Given the description of an element on the screen output the (x, y) to click on. 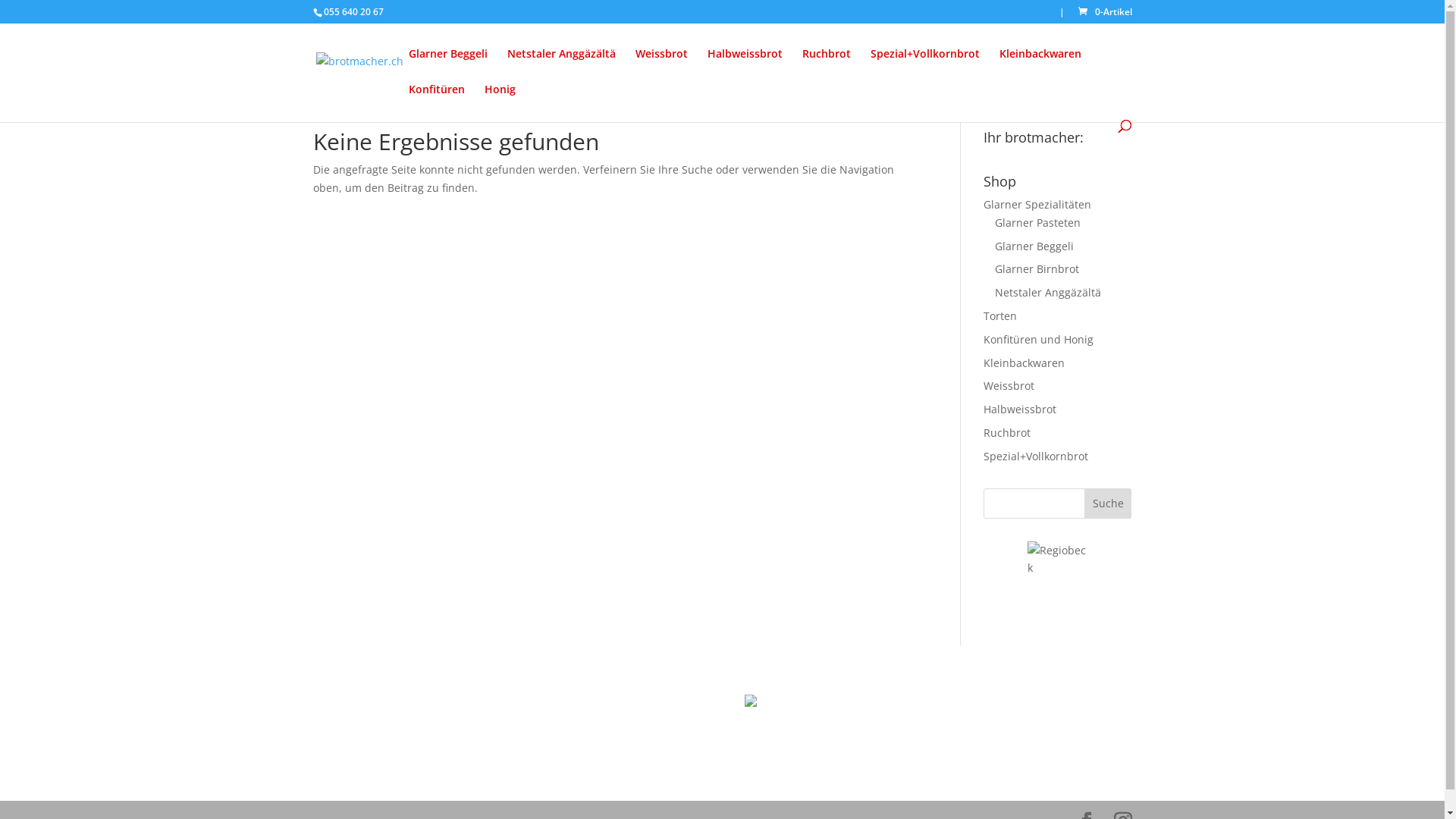
Spezial+Vollkornbrot Element type: text (924, 66)
Kleinbackwaren Element type: text (1023, 362)
Halbweissbrot Element type: text (1019, 408)
Glarner Beggeli Element type: text (1033, 245)
Torten Element type: text (999, 315)
Glarner Beggeli Element type: text (446, 66)
| Element type: text (1060, 15)
Spezial+Vollkornbrot Element type: text (1035, 455)
Suche Element type: text (1108, 503)
Weissbrot Element type: text (1008, 385)
Ruchbrot Element type: text (826, 66)
Weissbrot Element type: text (661, 66)
Kleinbackwaren Element type: text (1040, 66)
Halbweissbrot Element type: text (743, 66)
Glarner Pasteten Element type: text (1037, 222)
Honig Element type: text (498, 101)
0-Artikel Element type: text (1103, 11)
Glarner Birnbrot Element type: text (1036, 268)
Ruchbrot Element type: text (1006, 432)
